Given the description of an element on the screen output the (x, y) to click on. 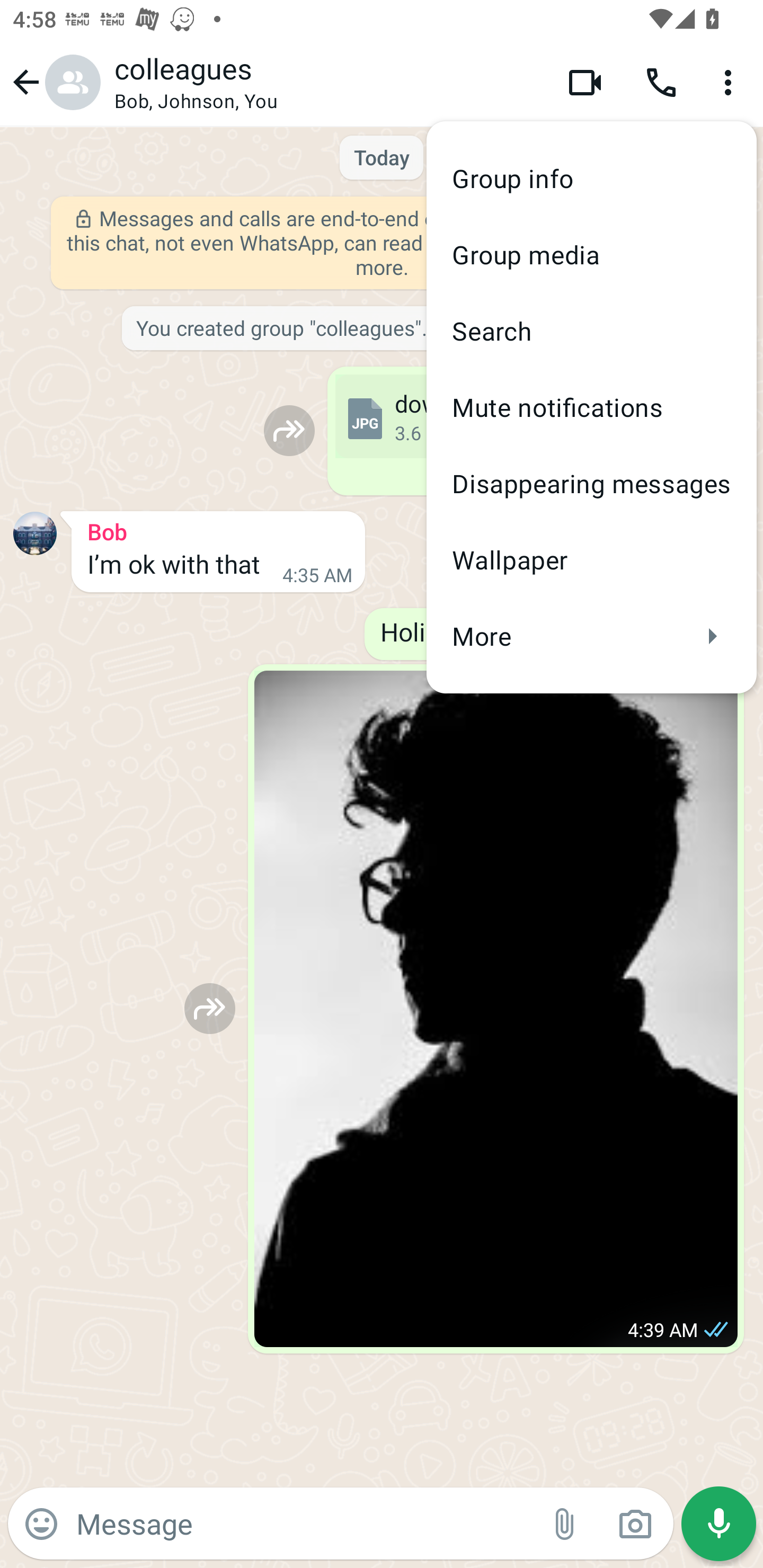
Group info (591, 178)
Group media (591, 254)
Search (591, 330)
Mute notifications (591, 406)
Disappearing messages (591, 483)
Wallpaper (591, 559)
More (591, 635)
